Given the description of an element on the screen output the (x, y) to click on. 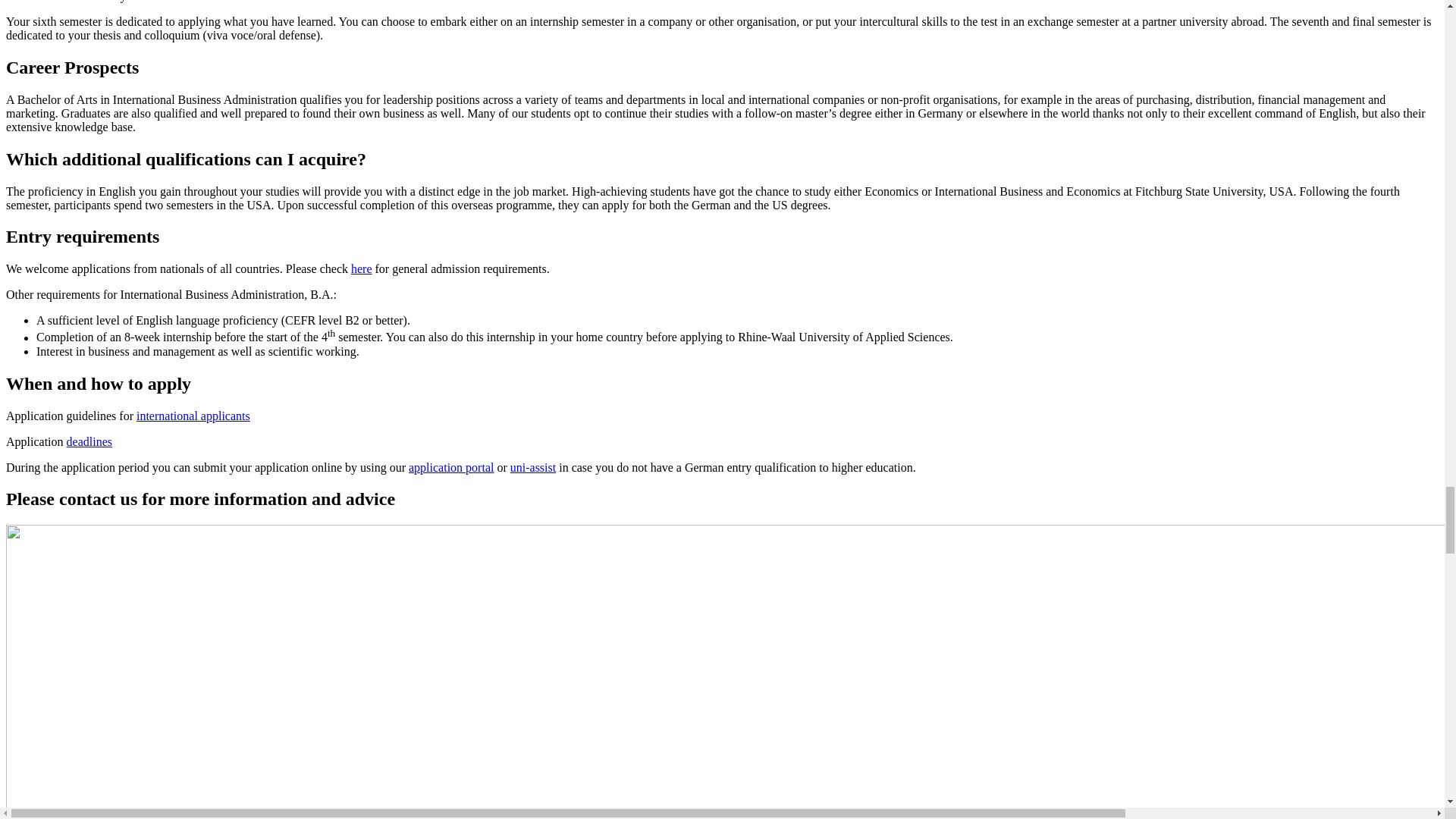
Forms and deadlines (89, 440)
